Given the description of an element on the screen output the (x, y) to click on. 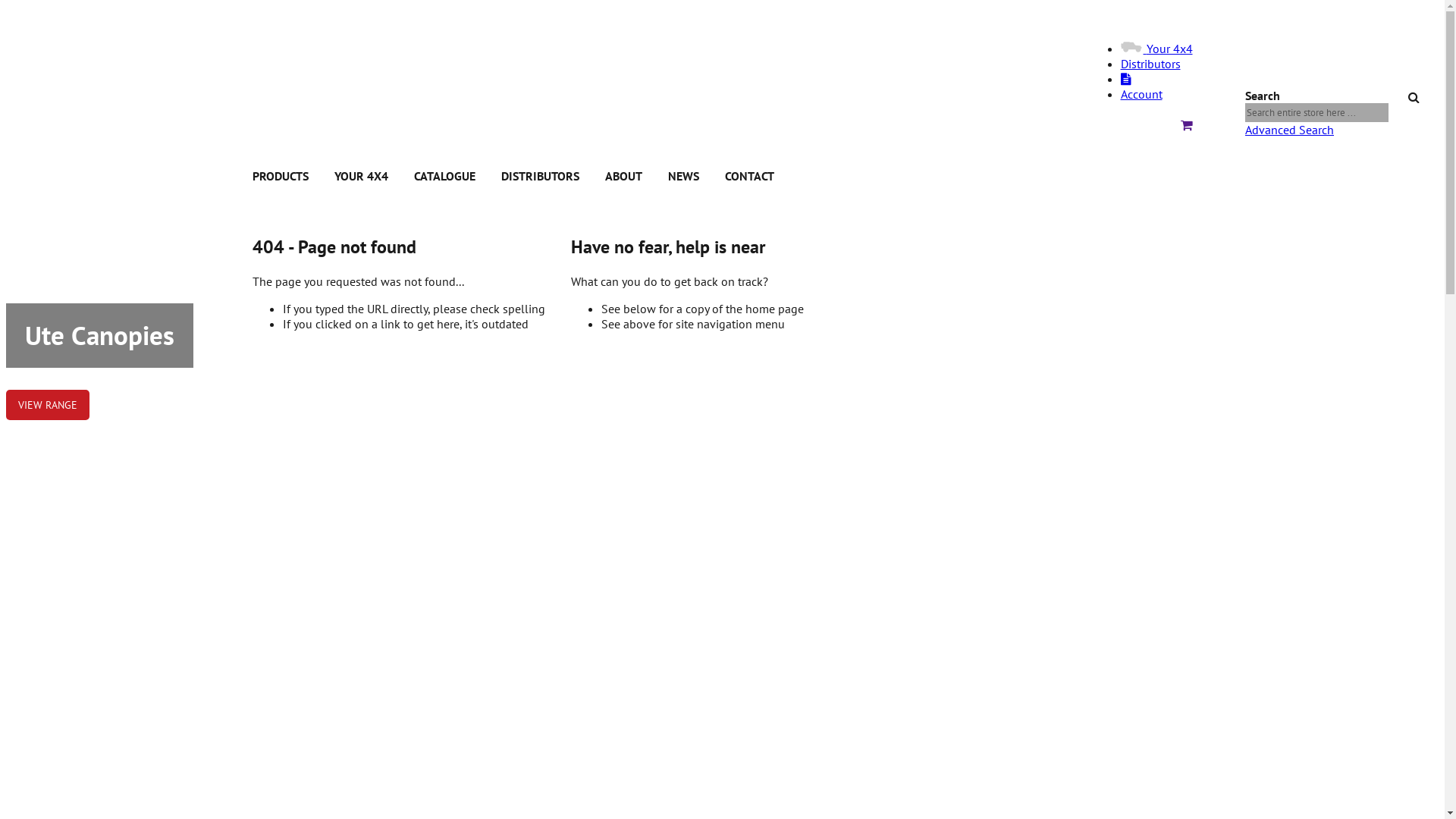
CATALOGUE Element type: text (444, 176)
ABOUT Element type: text (623, 176)
DISTRIBUTORS Element type: text (539, 176)
Advanced Search Element type: text (1289, 129)
YOUR 4X4 Element type: text (360, 176)
Account Element type: text (1141, 93)
Flexiglass Element type: hover (389, 39)
Search Element type: text (1417, 93)
Your 4x4 Element type: text (1156, 48)
Latest News Element type: hover (1125, 78)
CONTACT Element type: text (749, 176)
Quote Cart Element type: hover (1185, 124)
Distributors Element type: text (1150, 63)
PRODUCTS Element type: text (279, 176)
VIEW RANGE Element type: text (47, 404)
Flexiglass Element type: hover (389, 46)
NEWS Element type: text (682, 176)
